Given the description of an element on the screen output the (x, y) to click on. 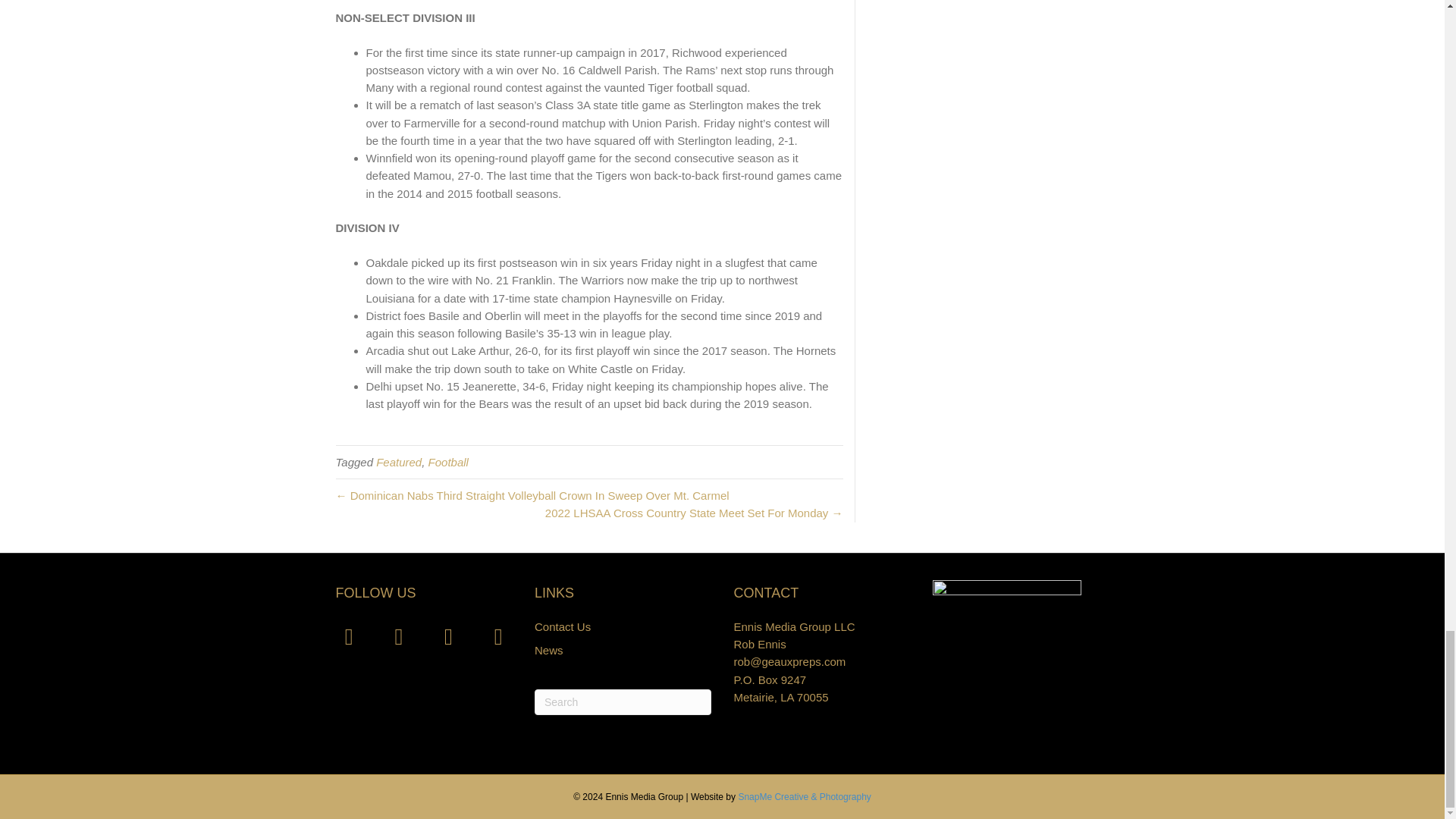
Contact Us (562, 626)
Football (448, 461)
News (548, 649)
Type and press Enter to search. (622, 701)
Featured (398, 461)
